Given the description of an element on the screen output the (x, y) to click on. 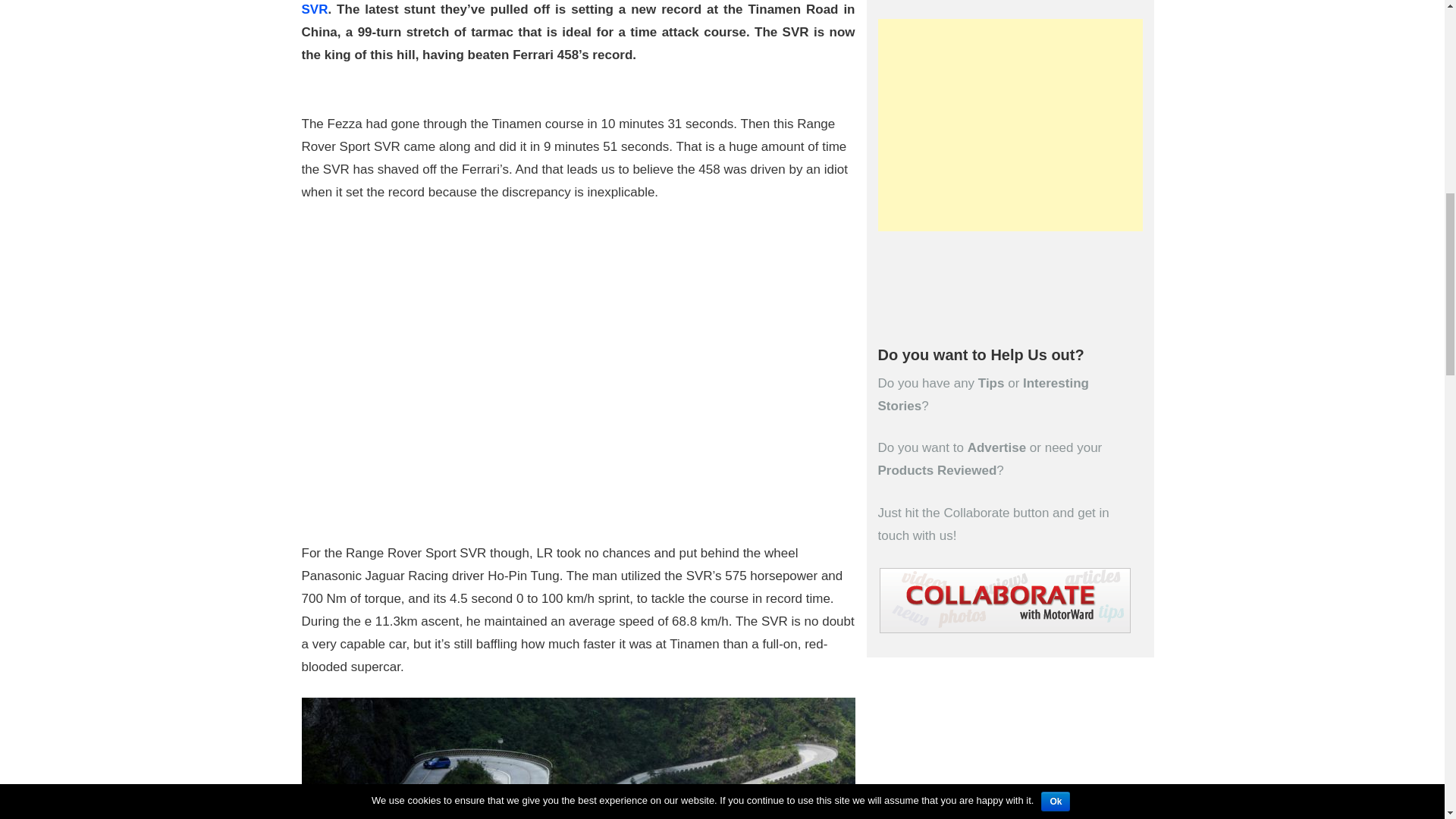
Range Rover Sport SVR Tinamen 5 730x314 (578, 758)
